Given the description of an element on the screen output the (x, y) to click on. 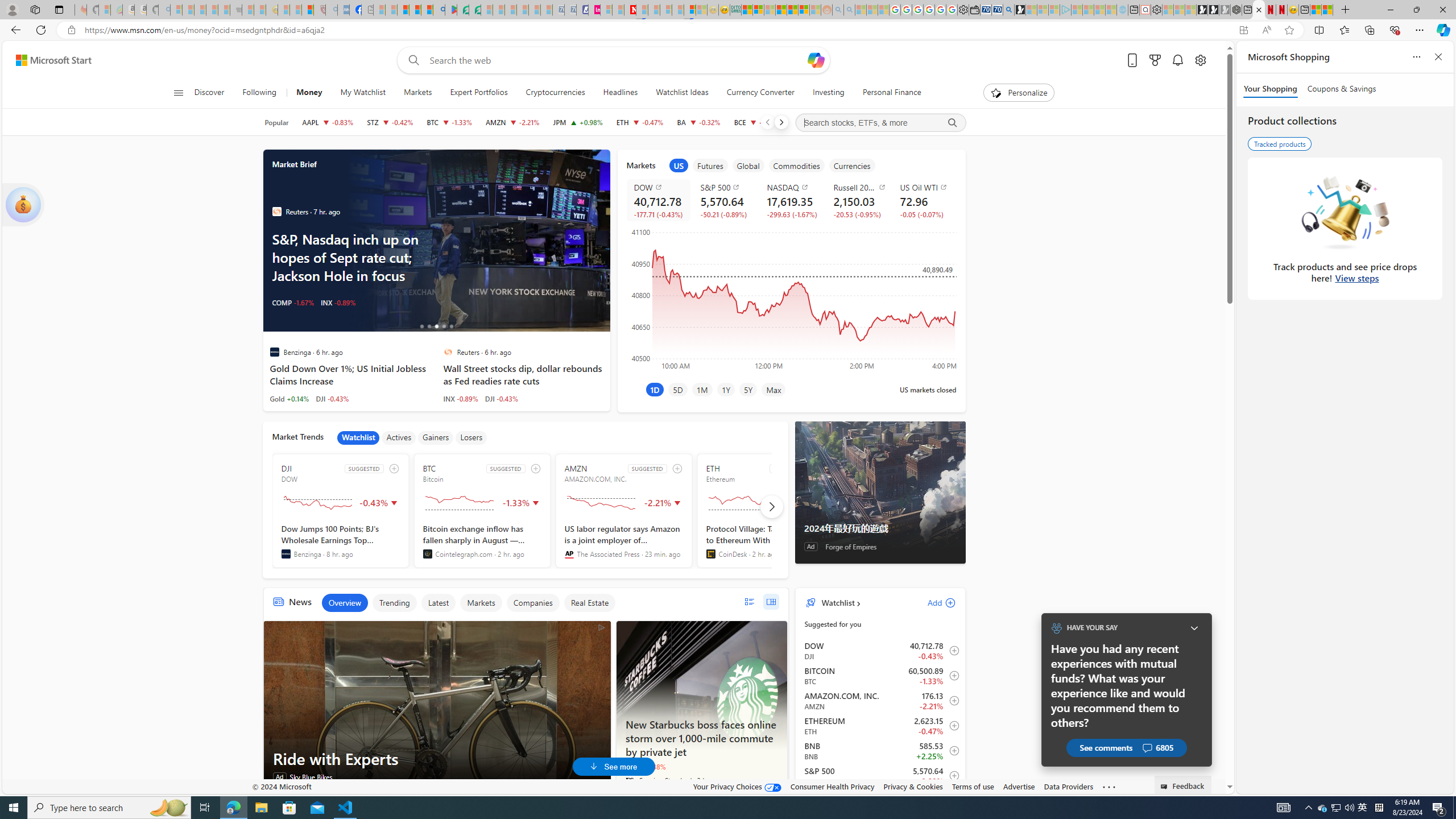
Ride with Experts (437, 705)
item3 (748, 164)
